Given the description of an element on the screen output the (x, y) to click on. 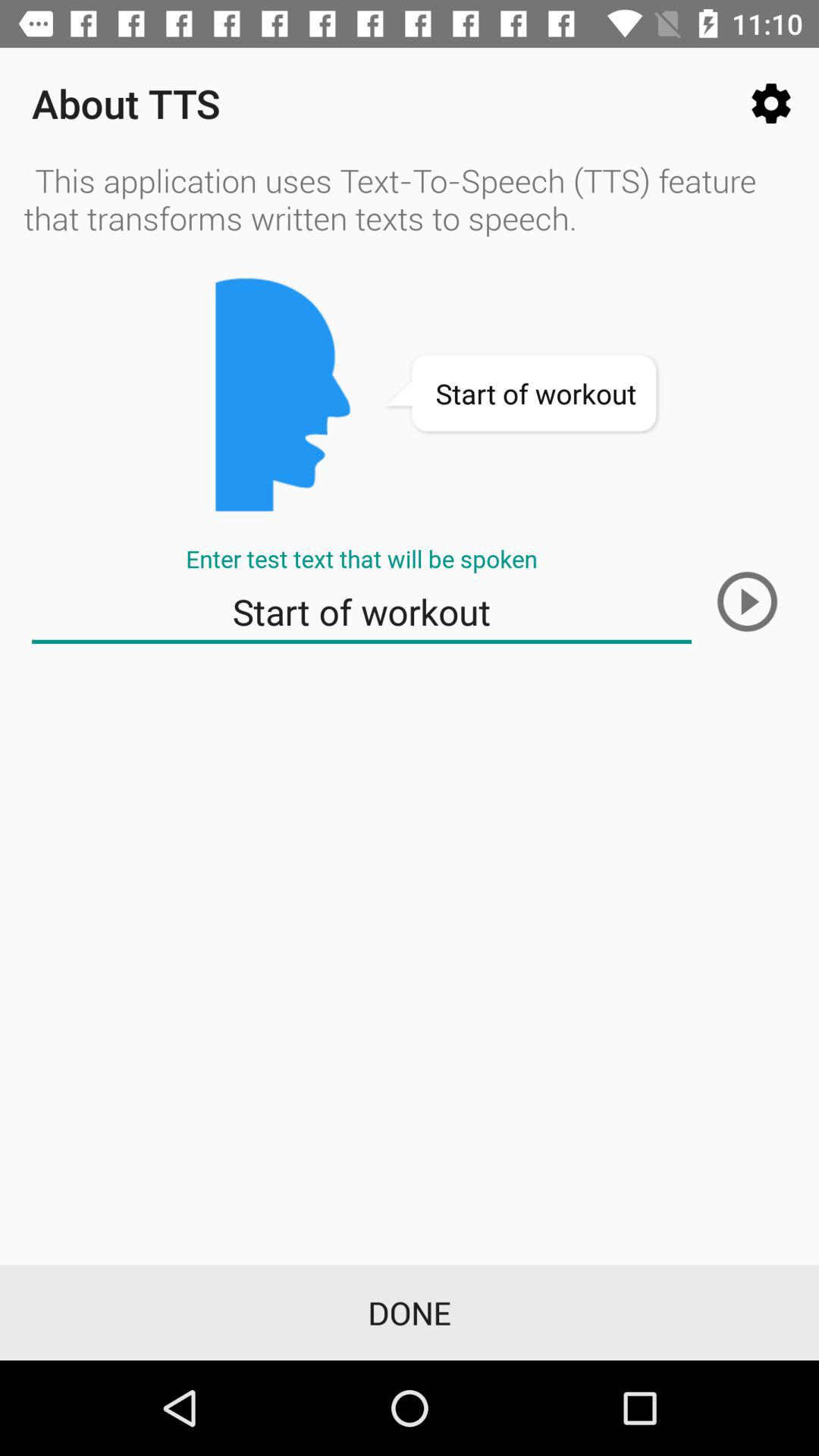
go to the next screen (747, 601)
